Given the description of an element on the screen output the (x, y) to click on. 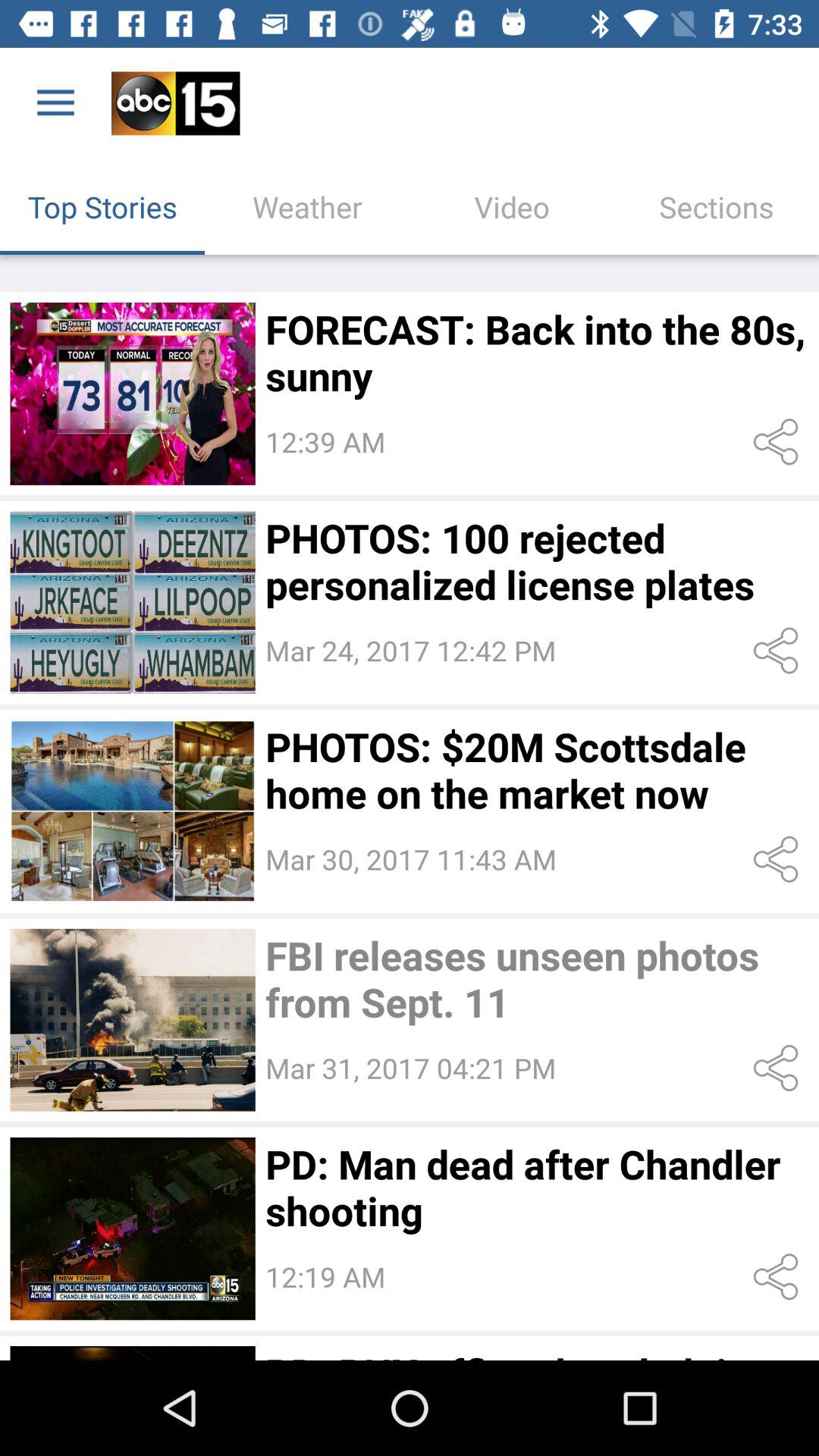
share to an email or text (778, 650)
